Given the description of an element on the screen output the (x, y) to click on. 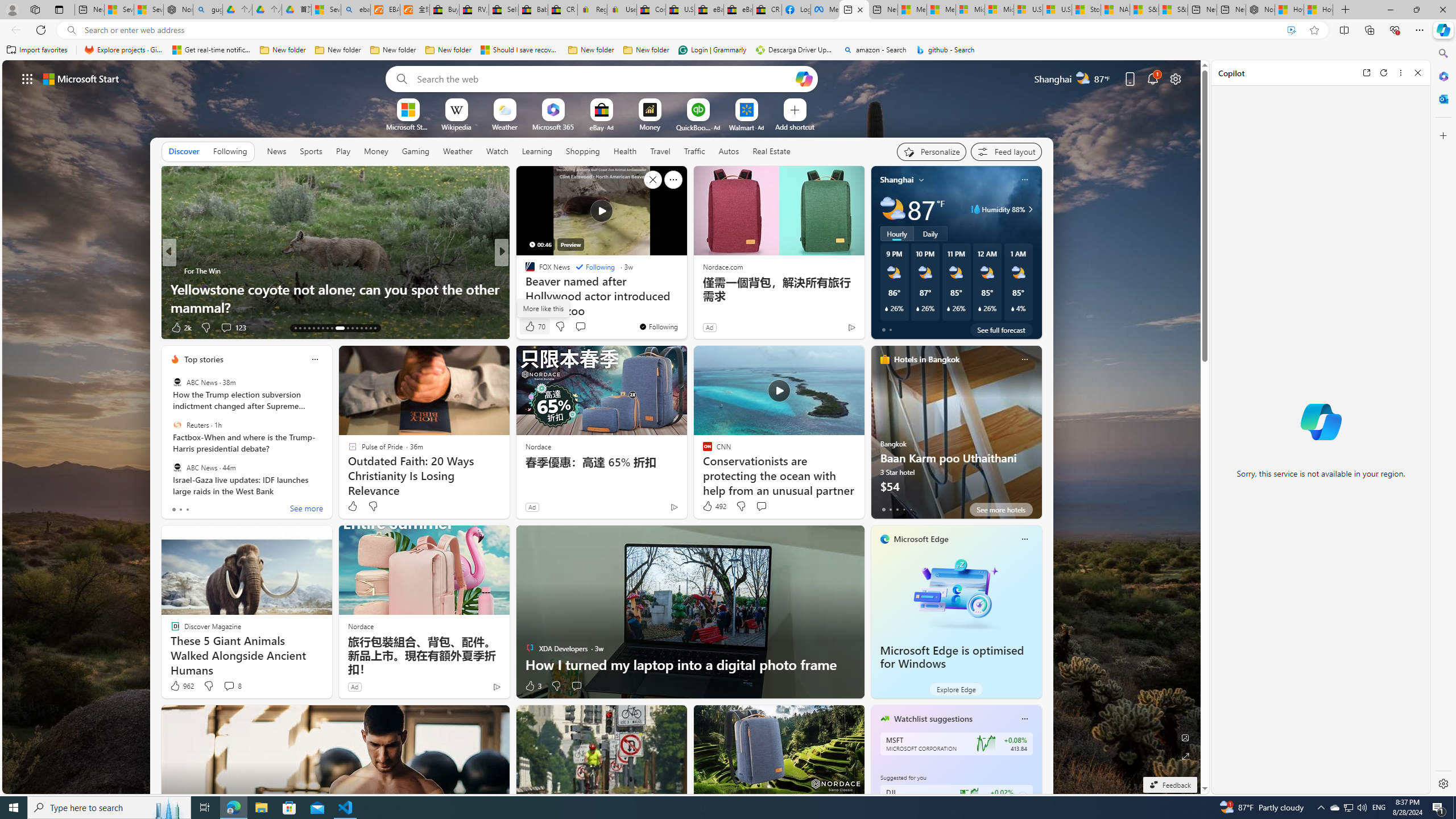
Class: weather-current-precipitation-glyph (1012, 308)
191 Like (532, 327)
tab-3 (903, 509)
Men's Health (524, 270)
Real Wild (524, 288)
